Given the description of an element on the screen output the (x, y) to click on. 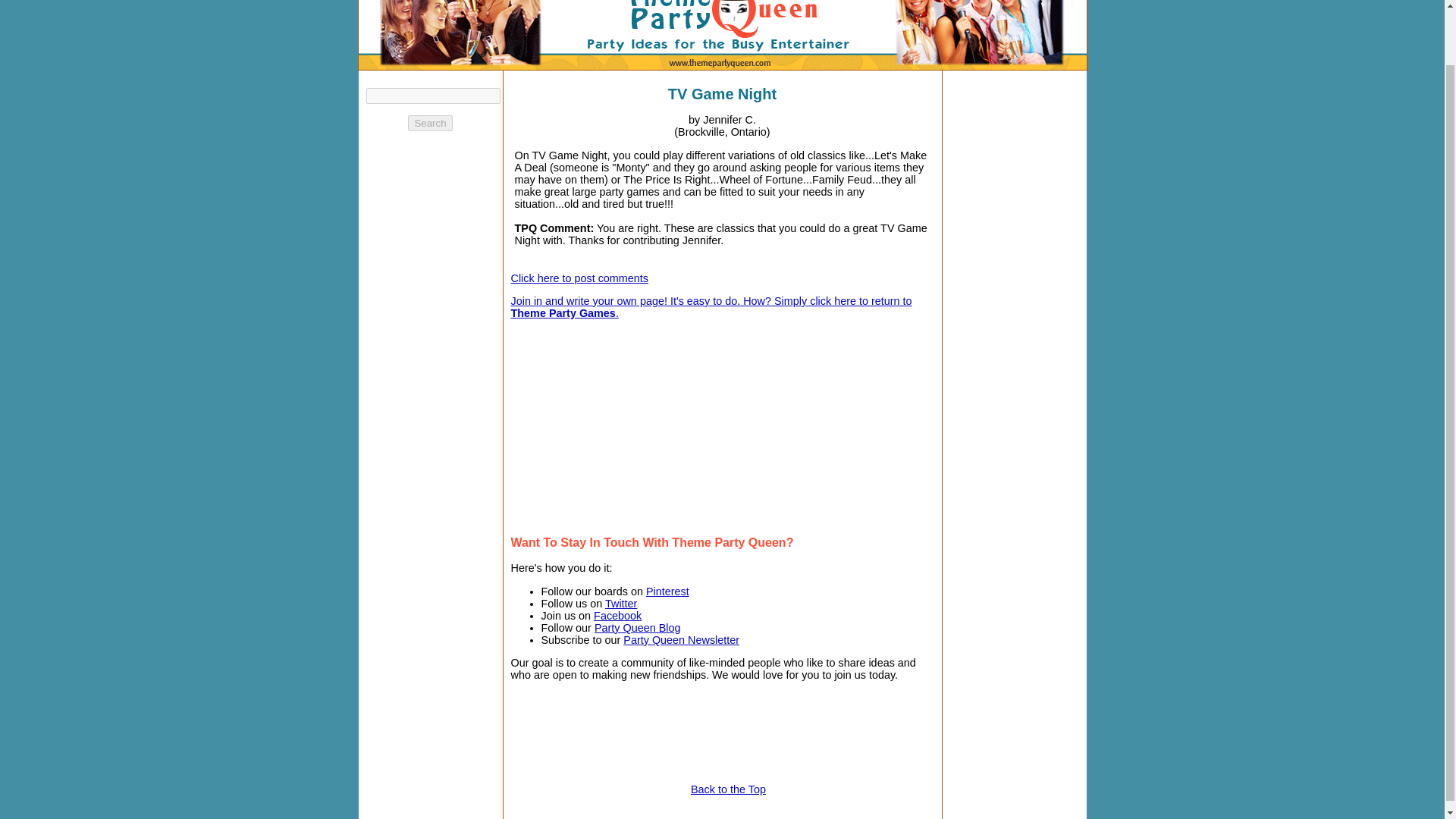
Click here to post comments (580, 277)
Party Queen Newsletter (681, 639)
Twitter (621, 603)
Pinterest (667, 591)
Party Queen Blog (637, 627)
Search (429, 123)
Search (429, 123)
Facebook (618, 615)
Advertisement (829, 424)
Back to the Top (727, 788)
